Given the description of an element on the screen output the (x, y) to click on. 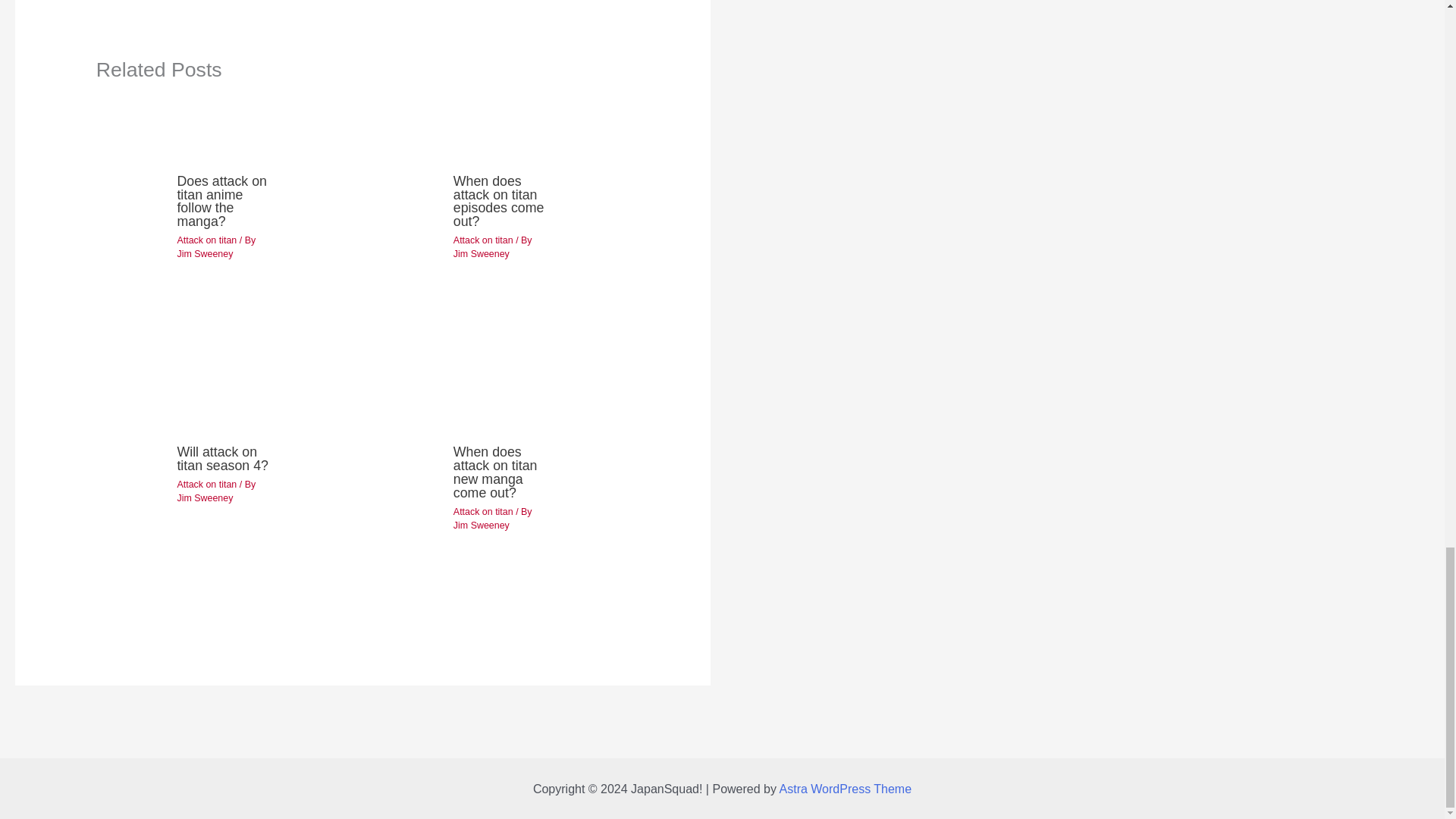
Attack on titan (205, 240)
Does attack on titan anime follow the manga? (221, 201)
View all posts by Jim Sweeney (204, 253)
View all posts by Jim Sweeney (480, 253)
Attack on titan (205, 484)
Jim Sweeney (480, 253)
Attack on titan (482, 511)
View all posts by Jim Sweeney (204, 498)
When does attack on titan episodes come out? (498, 201)
Attack on titan (482, 240)
